Given the description of an element on the screen output the (x, y) to click on. 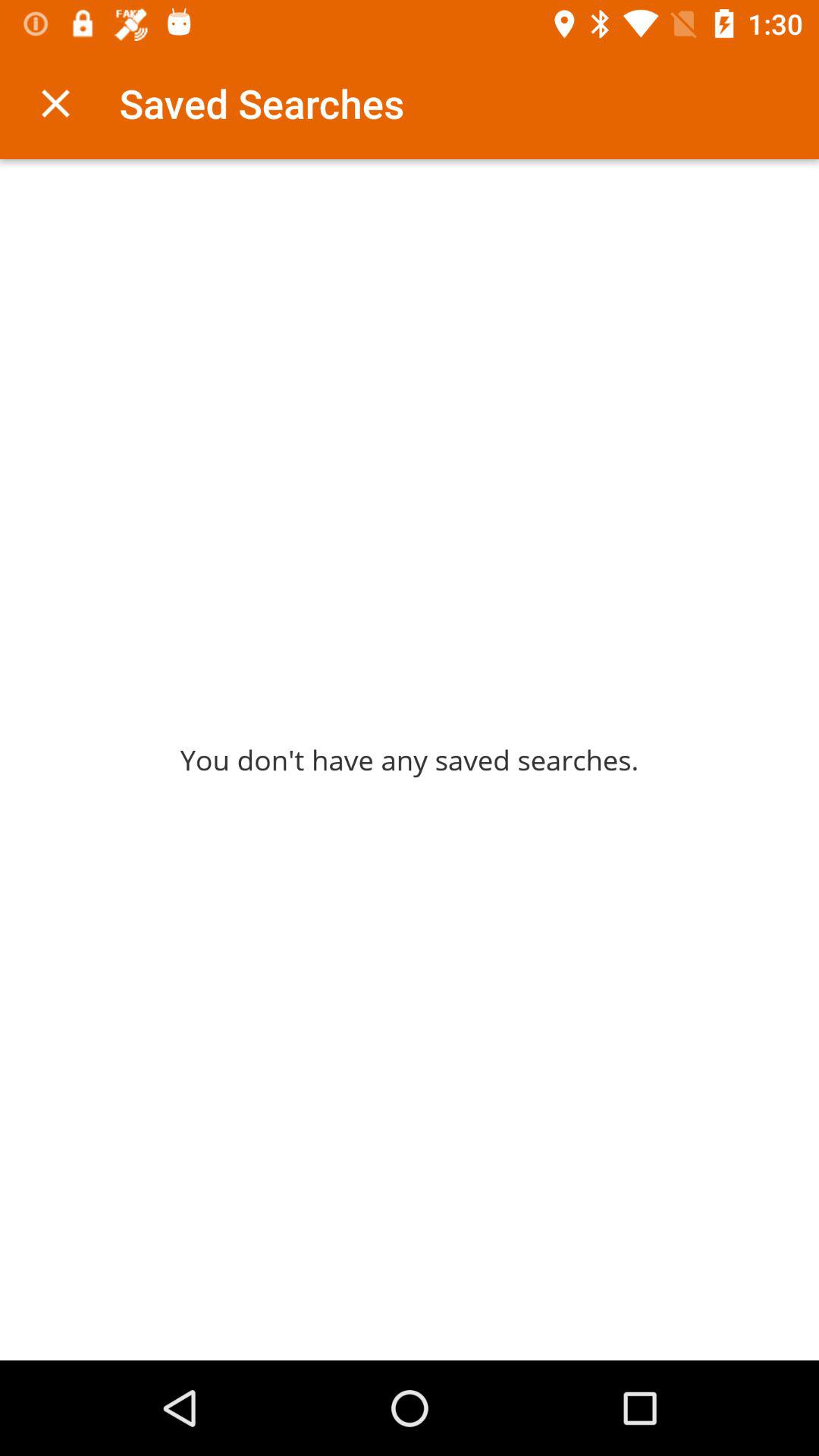
close button (55, 103)
